Given the description of an element on the screen output the (x, y) to click on. 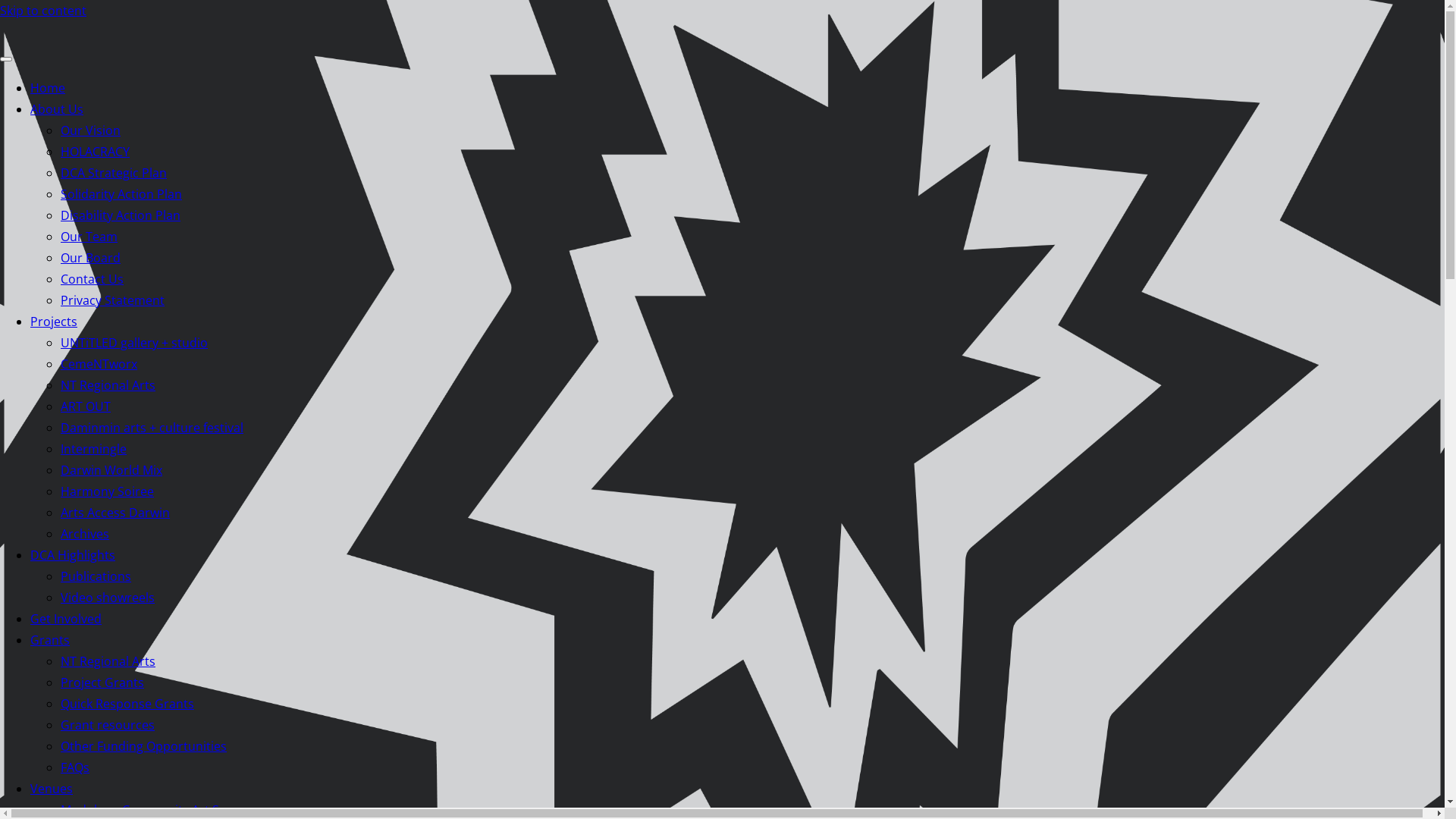
Disability Action Plan Element type: text (120, 215)
Home Element type: text (47, 87)
Our Board Element type: text (90, 257)
Venues Element type: text (51, 788)
ART OUT Element type: text (85, 406)
Grants Element type: text (49, 639)
CemeNTworx Element type: text (98, 363)
Grant resources Element type: text (107, 724)
DCA Strategic Plan Element type: text (113, 172)
Other Funding Opportunities Element type: text (143, 745)
Publications Element type: text (95, 575)
Arts Access Darwin Element type: text (114, 512)
Daminmin arts + culture festival Element type: text (151, 427)
Quick Response Grants Element type: text (127, 703)
FAQs Element type: text (74, 767)
Solidarity Action Plan Element type: text (121, 193)
HOLACRACY Element type: text (94, 151)
Mudul-ma Community Art Space Element type: text (153, 809)
Archives Element type: text (84, 533)
Project Grants Element type: text (102, 682)
Get Involved Element type: text (65, 618)
UNTiTLED gallery + studio Element type: text (133, 342)
Darwin World Mix Element type: text (111, 469)
About Us Element type: text (56, 108)
NT Regional Arts Element type: text (107, 660)
Our Team Element type: text (88, 236)
Skip to content Element type: text (43, 10)
NT Regional Arts Element type: text (107, 384)
Projects Element type: text (53, 321)
Our Vision Element type: text (90, 130)
Video showreels Element type: text (107, 597)
DCA Highlights Element type: text (72, 554)
Contact Us Element type: text (91, 278)
Privacy Statement Element type: text (112, 299)
Harmony Soiree Element type: text (106, 491)
Intermingle Element type: text (93, 448)
